Given the description of an element on the screen output the (x, y) to click on. 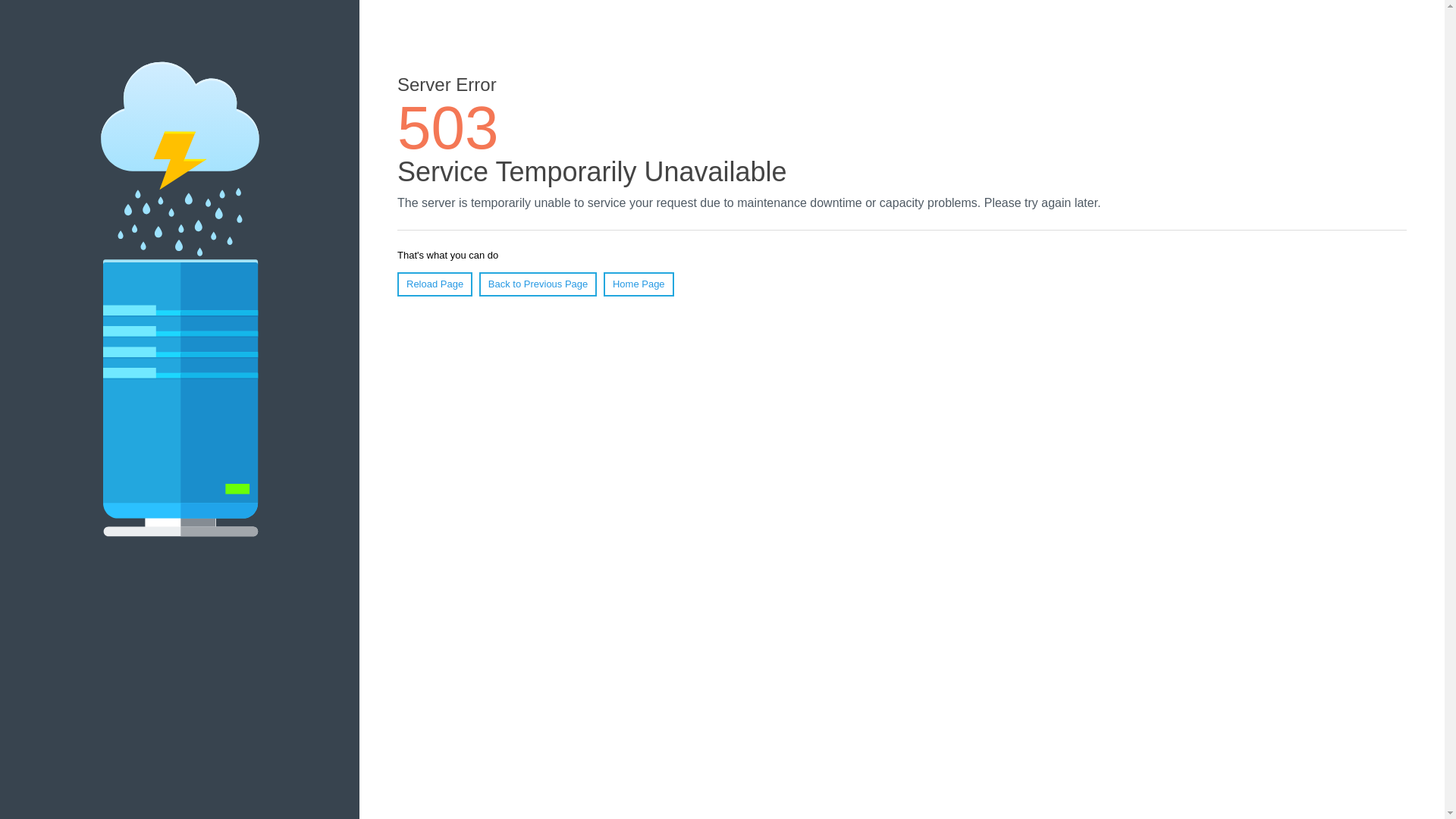
Home Page Element type: text (638, 284)
Back to Previous Page Element type: text (538, 284)
Reload Page Element type: text (434, 284)
